Given the description of an element on the screen output the (x, y) to click on. 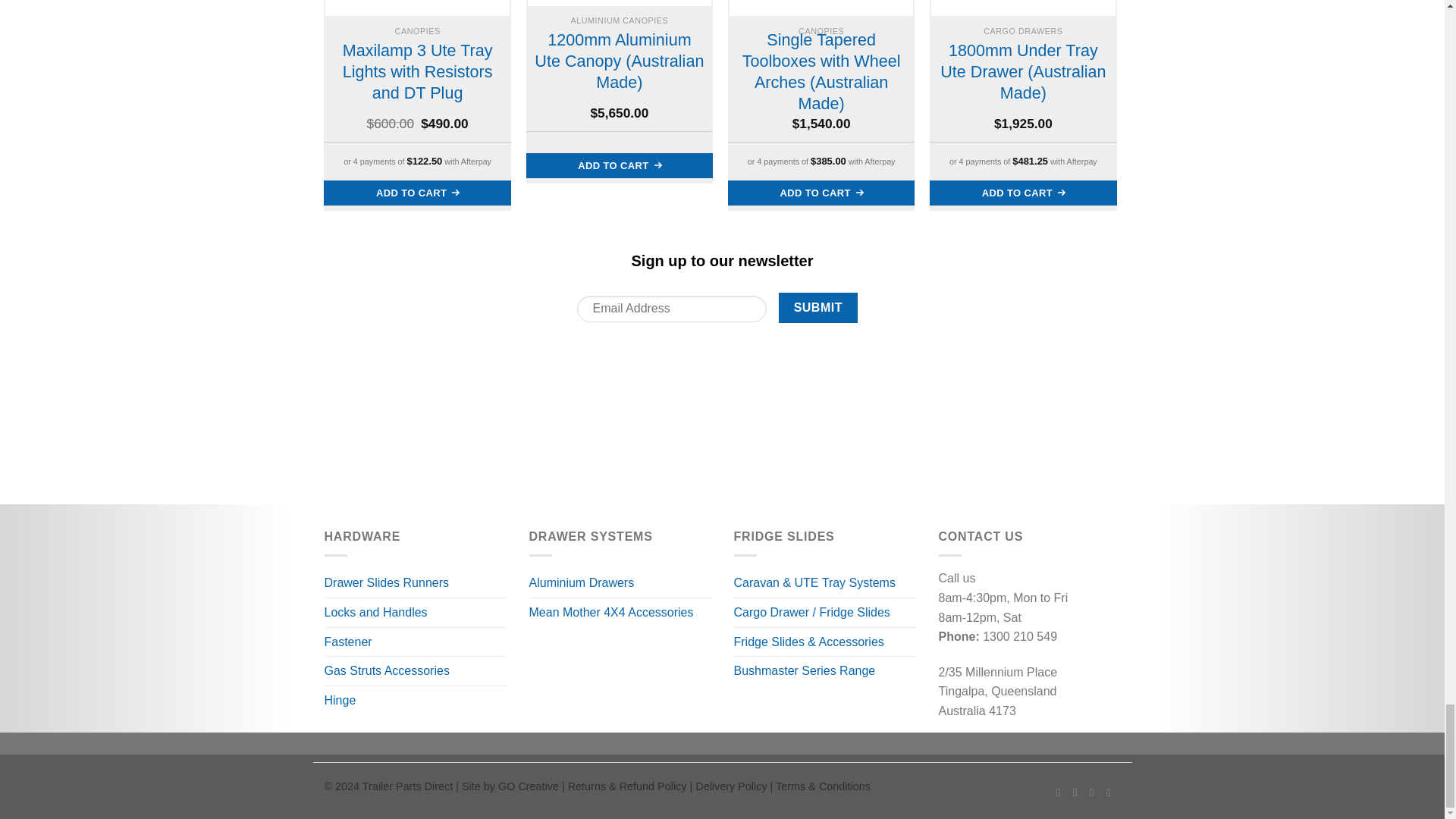
Submit (817, 307)
